Given the description of an element on the screen output the (x, y) to click on. 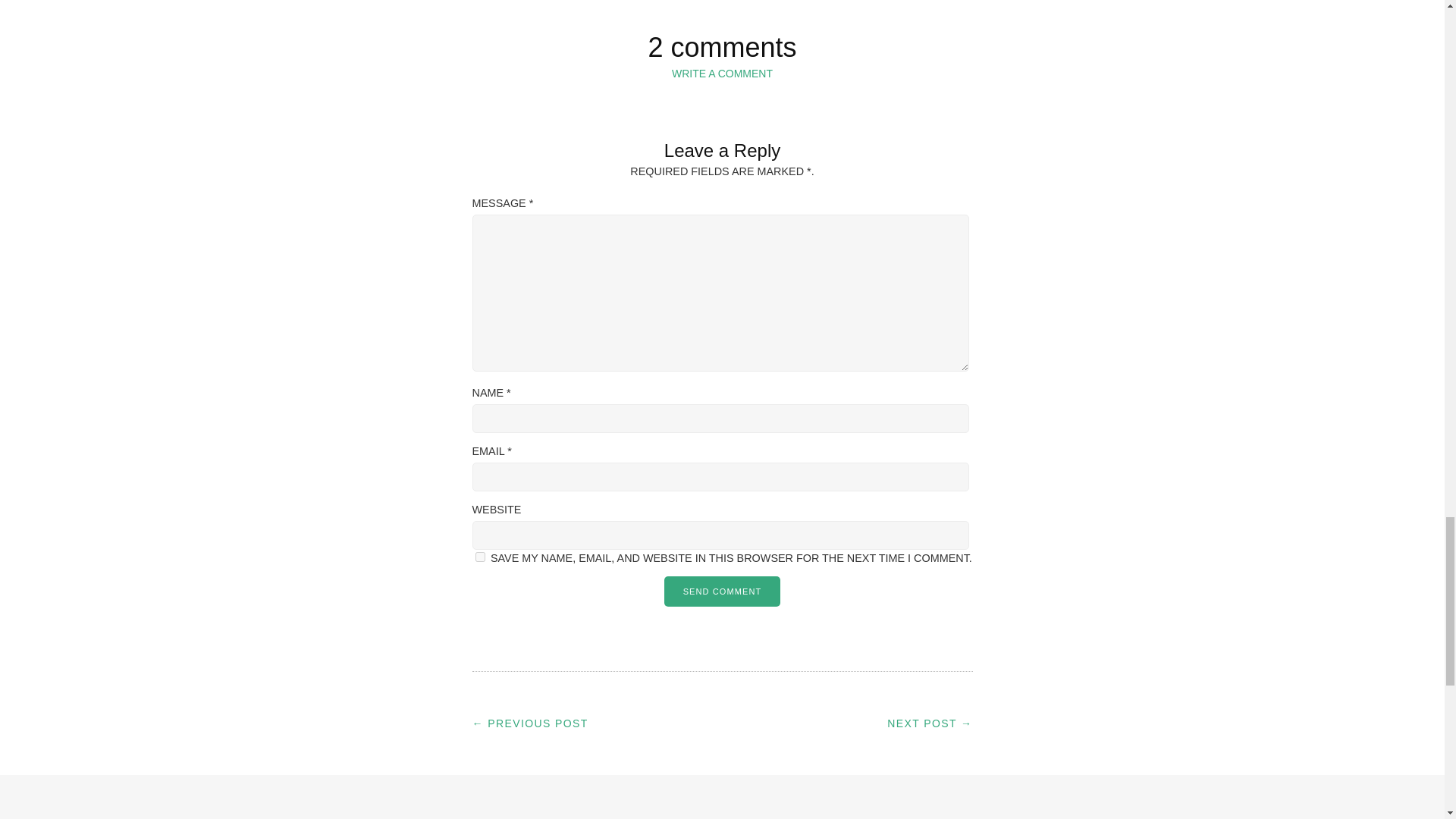
Send Comment (721, 591)
yes (479, 556)
